Given the description of an element on the screen output the (x, y) to click on. 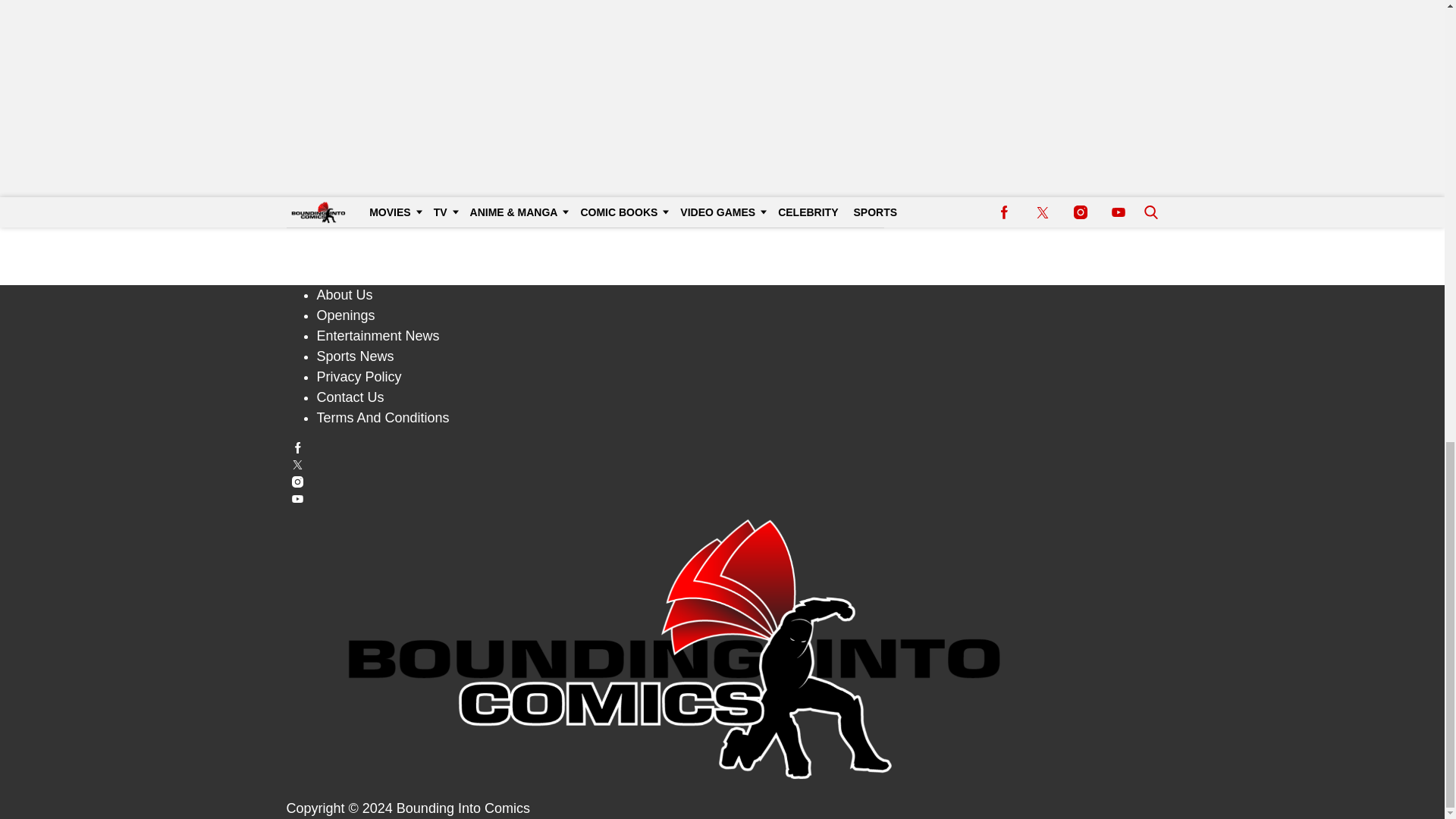
Follow us on Instagram (722, 481)
Follow us on Twitter (722, 464)
Follow us on Facebook (722, 447)
Subscribe to our YouTube channel (722, 498)
